Given the description of an element on the screen output the (x, y) to click on. 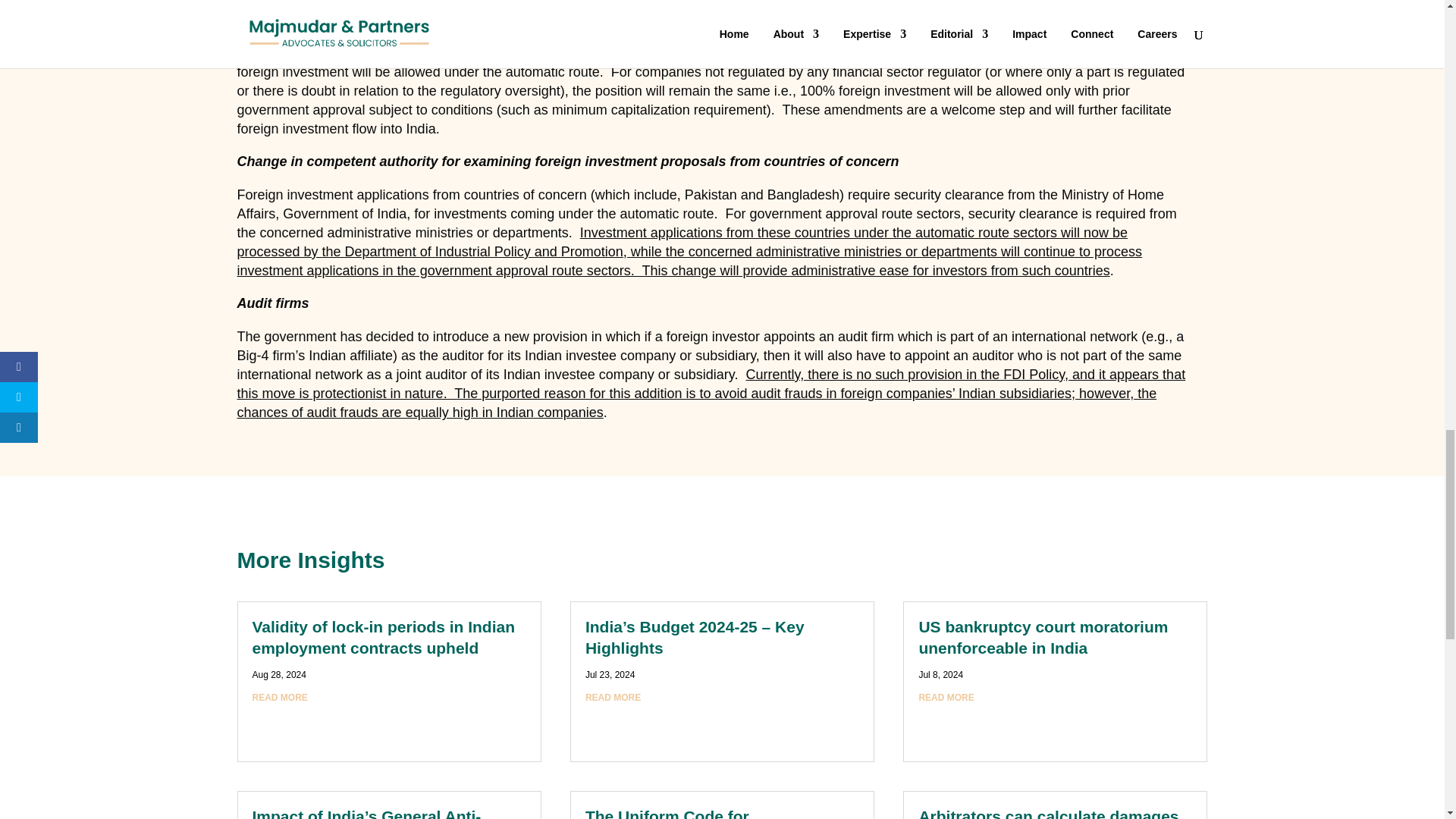
READ MORE (612, 697)
READ MORE (279, 697)
